Given the description of an element on the screen output the (x, y) to click on. 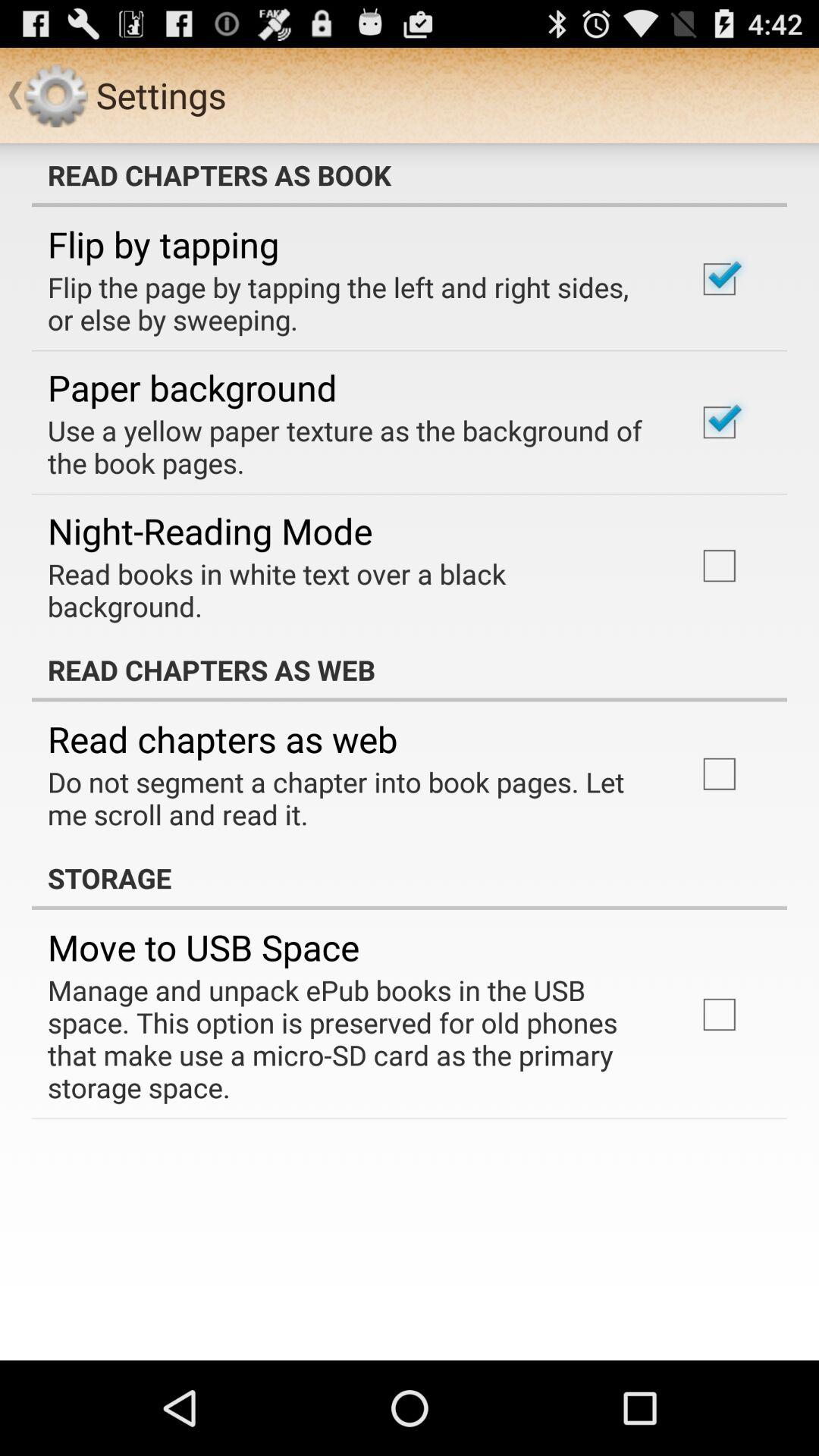
scroll to manage and unpack icon (351, 1038)
